Given the description of an element on the screen output the (x, y) to click on. 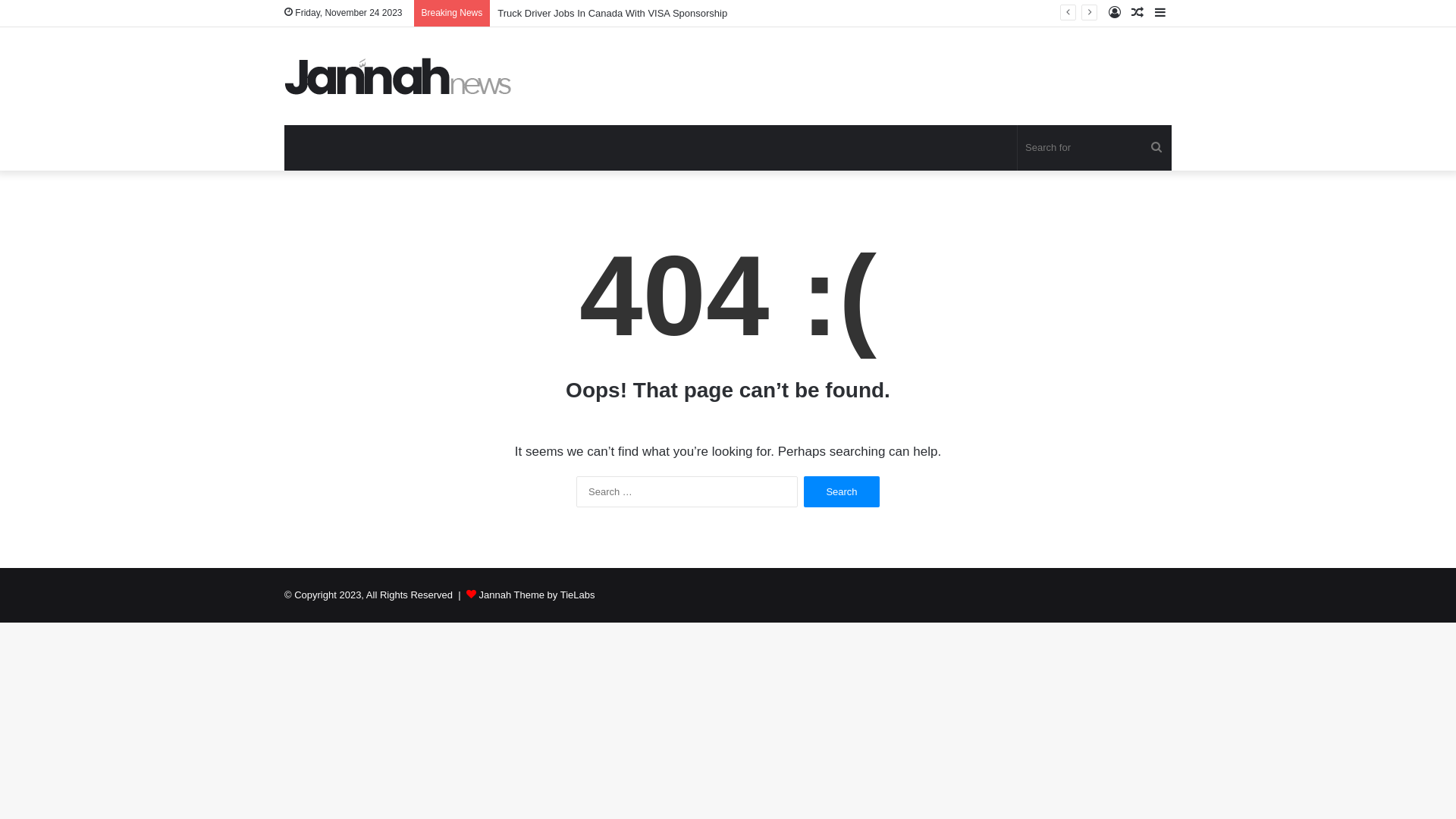
Truck Driver Jobs In Canada With VISA Sponsorship Element type: text (612, 12)
Random Article Element type: text (1137, 13)
Sidebar Element type: text (1159, 13)
Search for Element type: hover (1094, 147)
Log In Element type: text (1114, 13)
Jannah Theme by TieLabs Element type: text (536, 594)
Search for Element type: text (1156, 147)
Search Element type: text (841, 491)
Technology News Updates Element type: hover (397, 75)
